Given the description of an element on the screen output the (x, y) to click on. 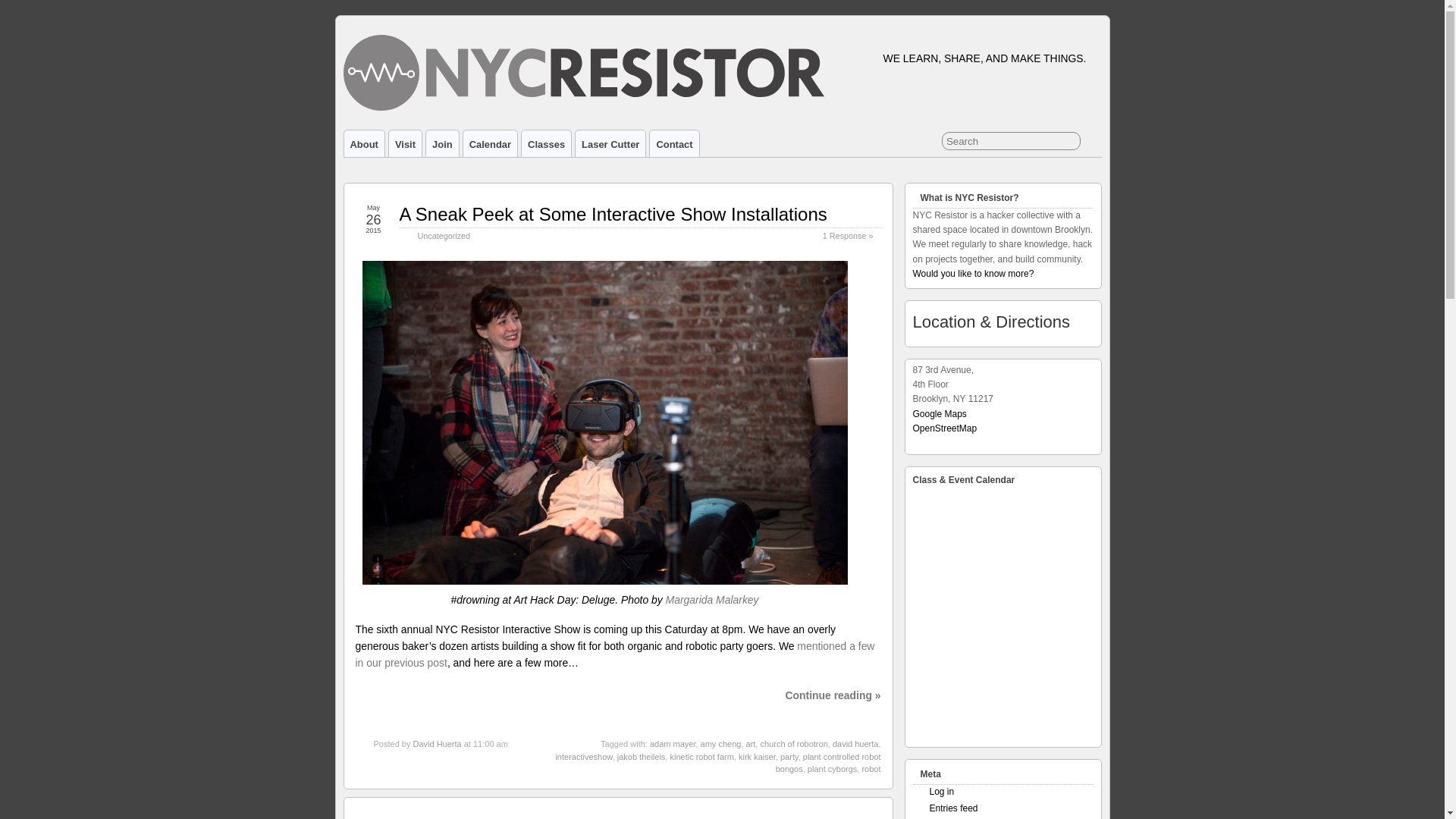
kinetic robot farm (701, 756)
art (750, 743)
A Sneak Peek at Some Interactive Show Installations (612, 213)
Join (442, 143)
adam mayer (672, 743)
jakob theileis (641, 756)
church of robotron (793, 743)
mentioned a few in our previous post (615, 654)
Margarida Malarkey (711, 599)
interactiveshow (582, 756)
Classes (545, 143)
amy cheng (720, 743)
david huerta (855, 743)
party (788, 756)
plant controlled robot bongos (828, 762)
